Given the description of an element on the screen output the (x, y) to click on. 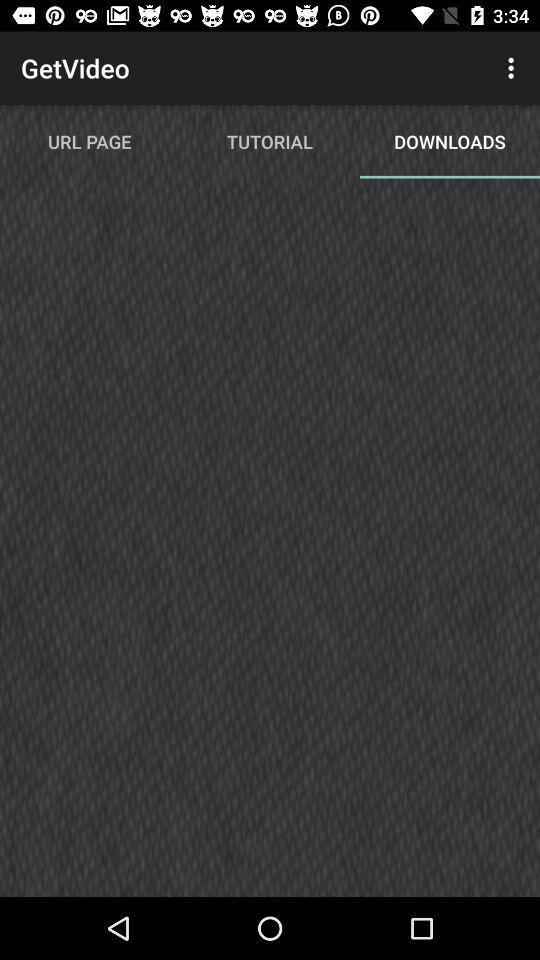
open the app to the right of tutorial (513, 67)
